Given the description of an element on the screen output the (x, y) to click on. 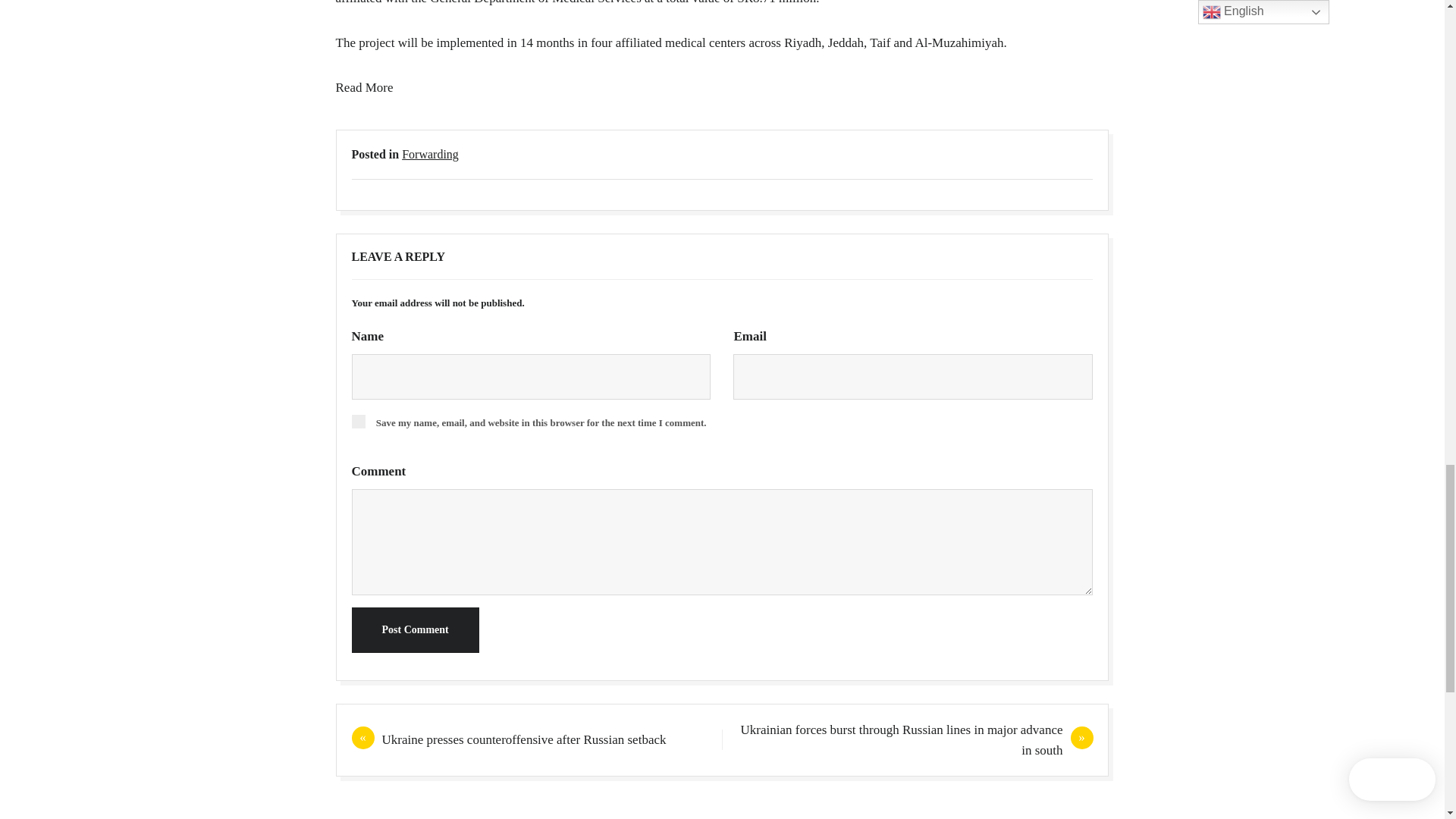
yes (358, 421)
